Given the description of an element on the screen output the (x, y) to click on. 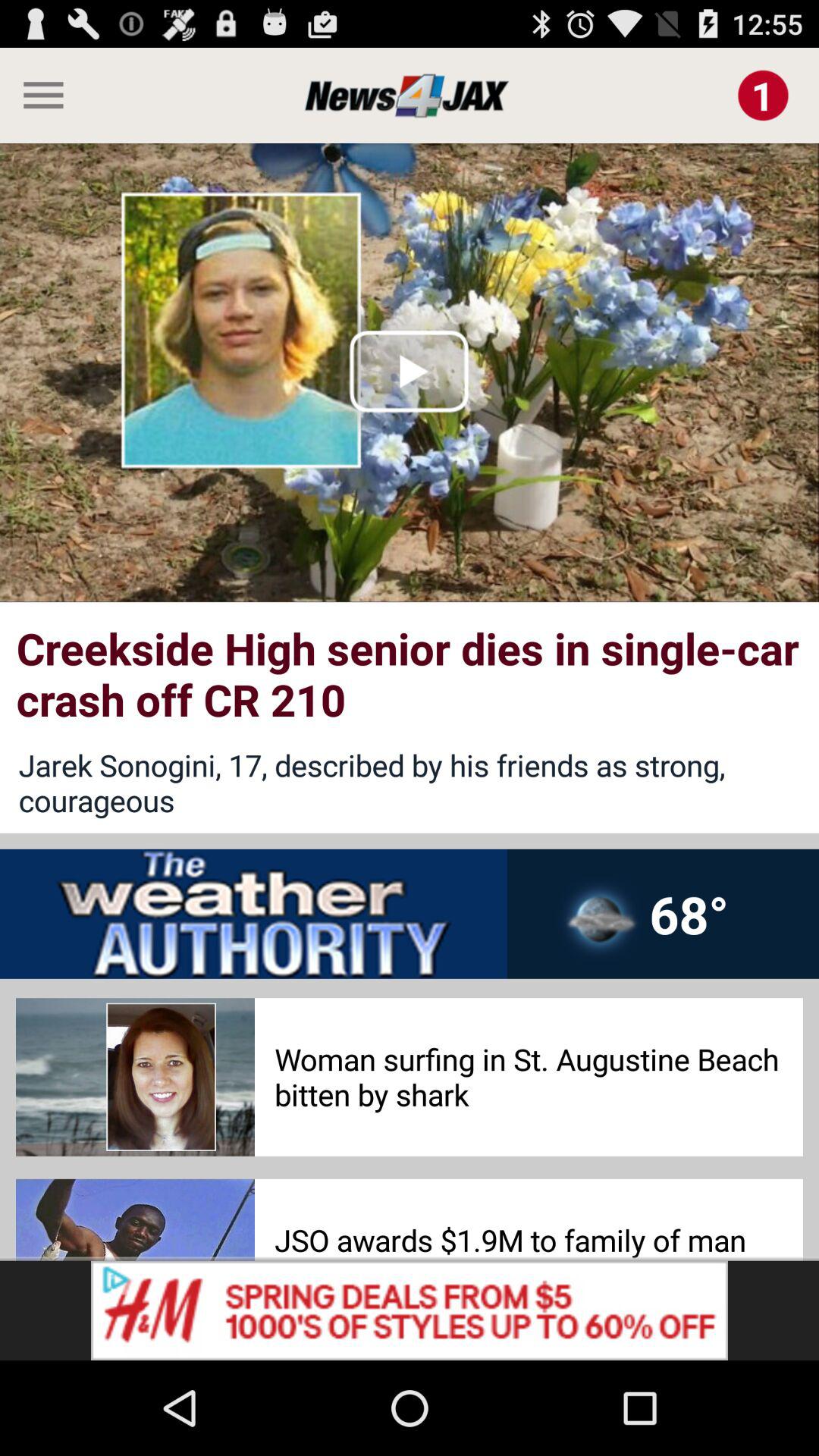
notification (762, 95)
